Given the description of an element on the screen output the (x, y) to click on. 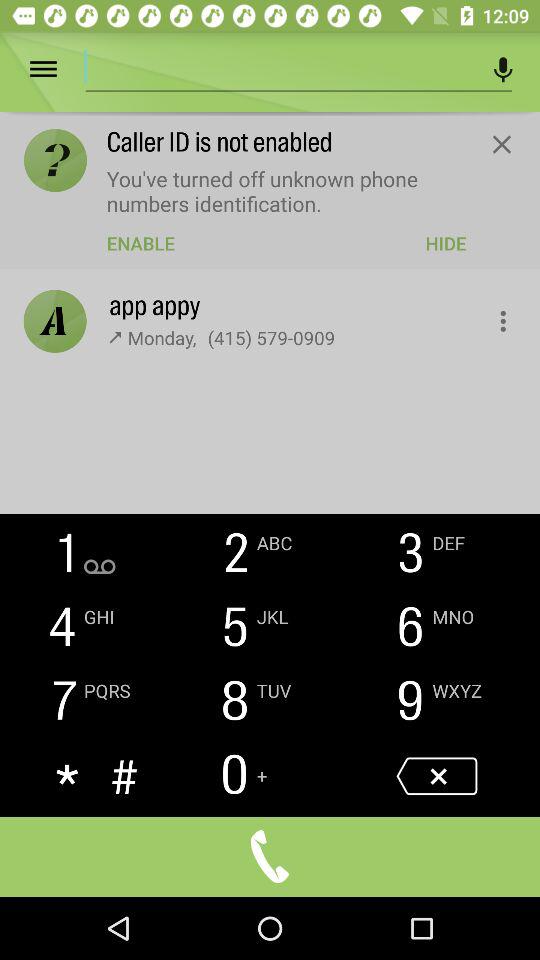
begin call (270, 856)
